Given the description of an element on the screen output the (x, y) to click on. 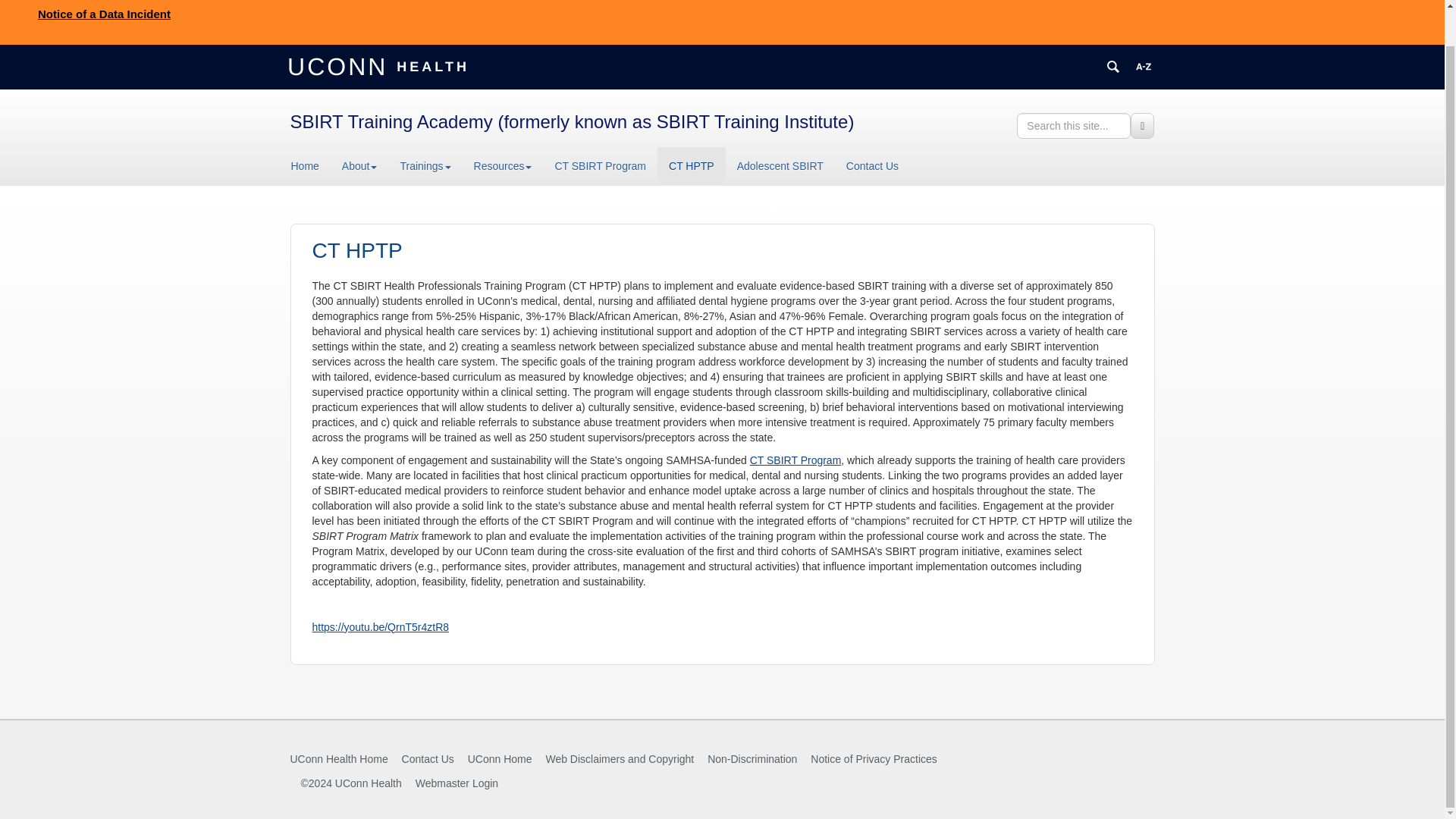
UConn Health A to Z Index (1143, 66)
Resources (503, 166)
Trainings (424, 166)
Home (310, 166)
HEALTH (431, 65)
Notice of a Data Incident (103, 13)
UCONN (340, 65)
Search (1142, 125)
About (359, 166)
Search this site...  (1073, 125)
